Given the description of an element on the screen output the (x, y) to click on. 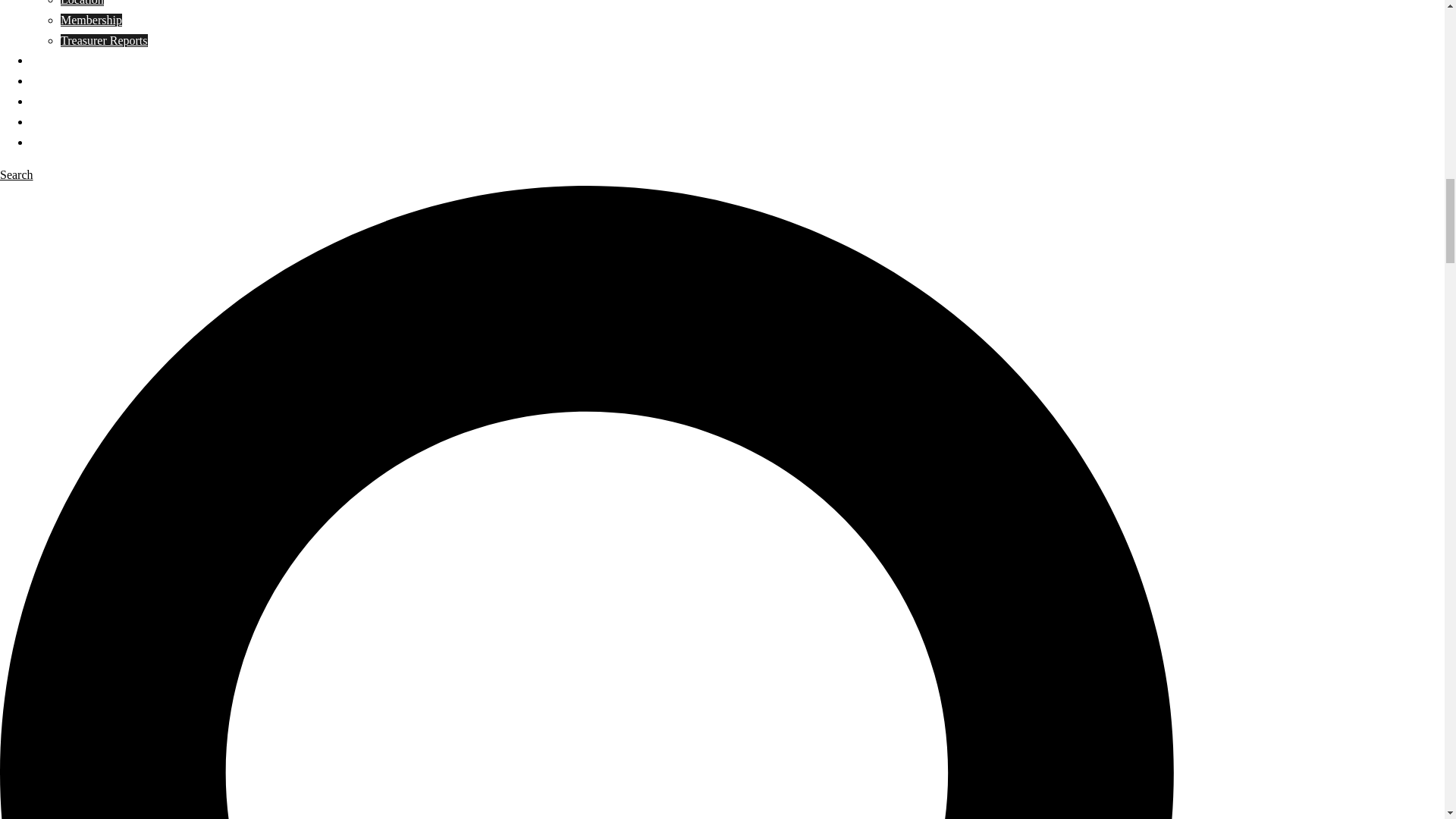
Gladstone Manor Location (82, 2)
Why Lansdowne? (73, 60)
Gladstone Manor Events (47, 121)
Volunteer at Gladstone Manor (53, 101)
Community (58, 80)
Membership (91, 19)
Contact (49, 141)
Volunteer (53, 101)
Events (47, 121)
Gladstone Manor Membership (91, 19)
Contact Gladstone Manor (49, 141)
Treasurer Reports (104, 39)
Location (82, 2)
